Given the description of an element on the screen output the (x, y) to click on. 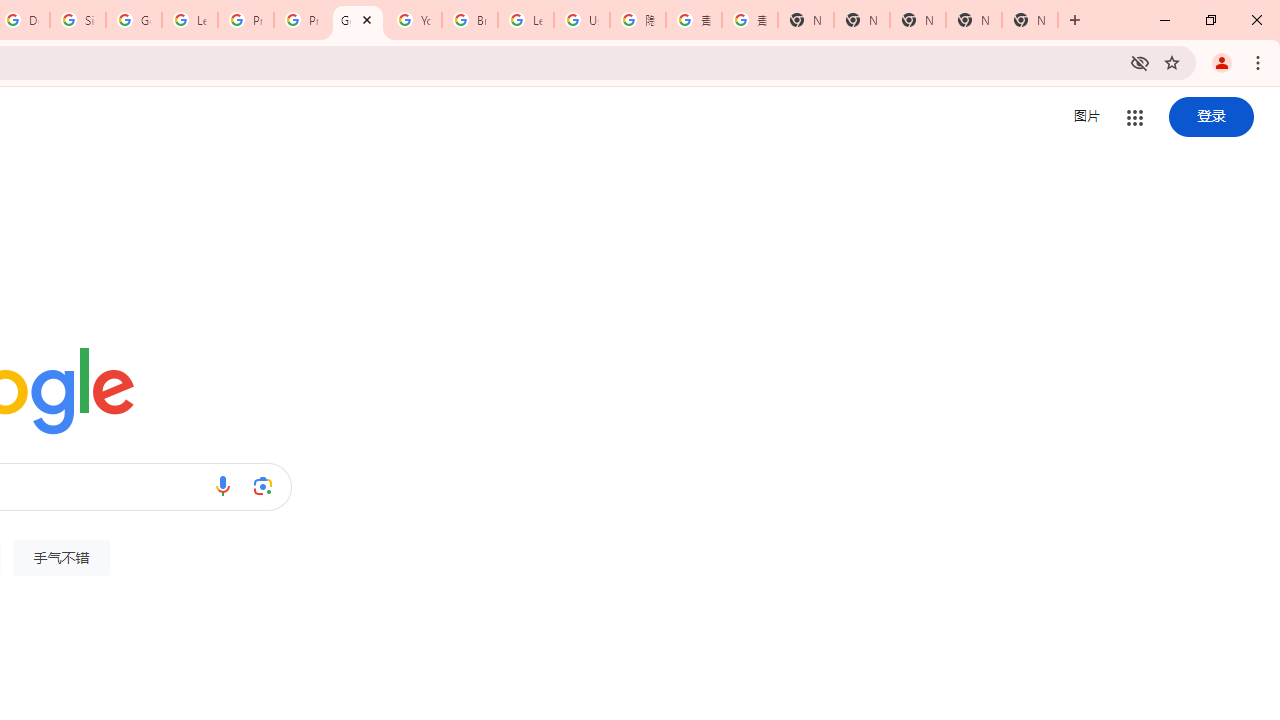
New Tab (806, 20)
Privacy Help Center - Policies Help (245, 20)
YouTube (413, 20)
